Given the description of an element on the screen output the (x, y) to click on. 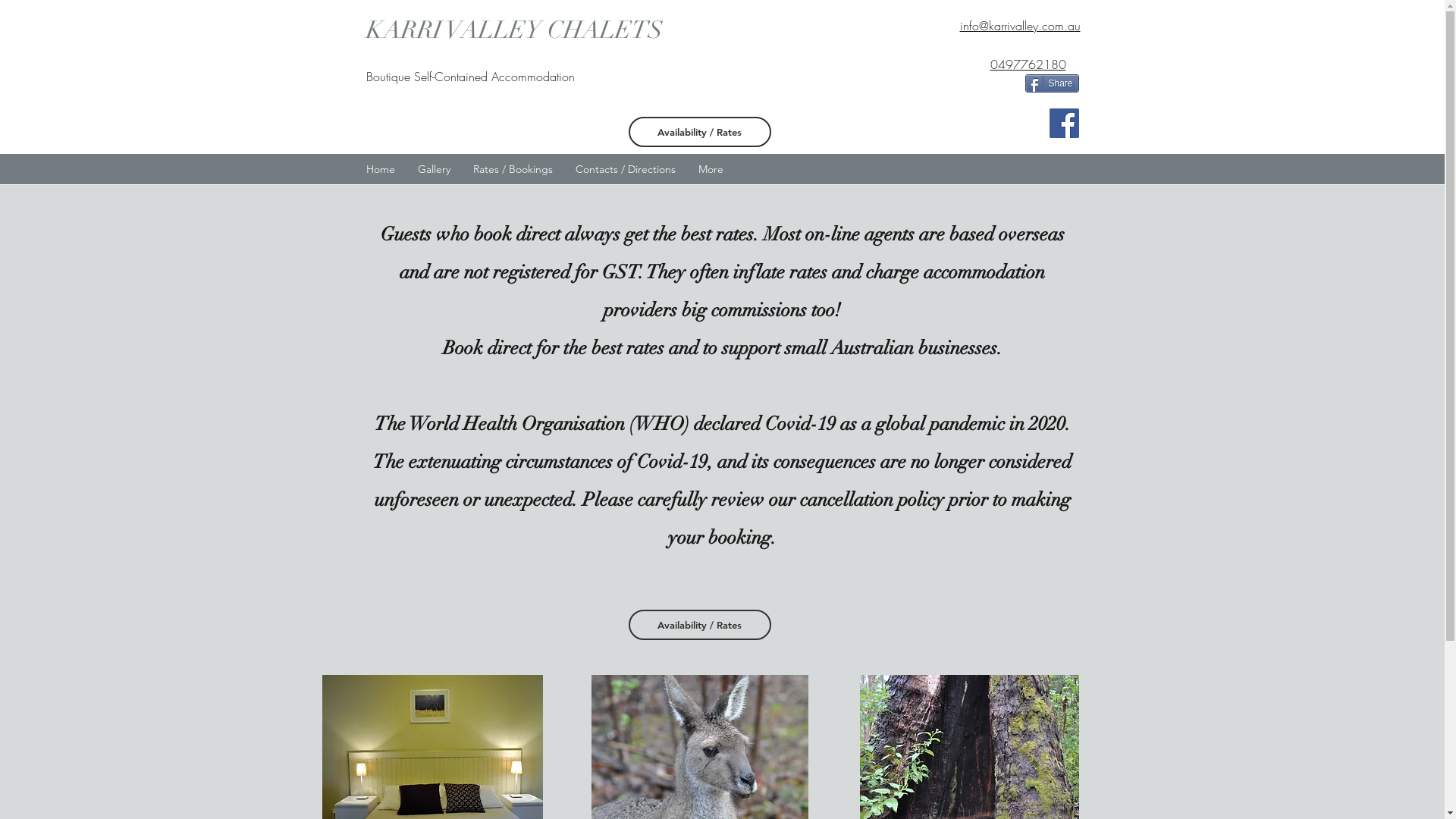
Share Element type: text (1052, 83)
Contacts / Directions Element type: text (625, 168)
Availability / Rates Element type: text (698, 131)
Gallery Element type: text (433, 168)
Rates / Bookings Element type: text (512, 168)
0497762180 Element type: text (1028, 64)
Availability / Rates Element type: text (698, 624)
info@karrivalley.com.au Element type: text (1020, 25)
Home Element type: text (380, 168)
